Given the description of an element on the screen output the (x, y) to click on. 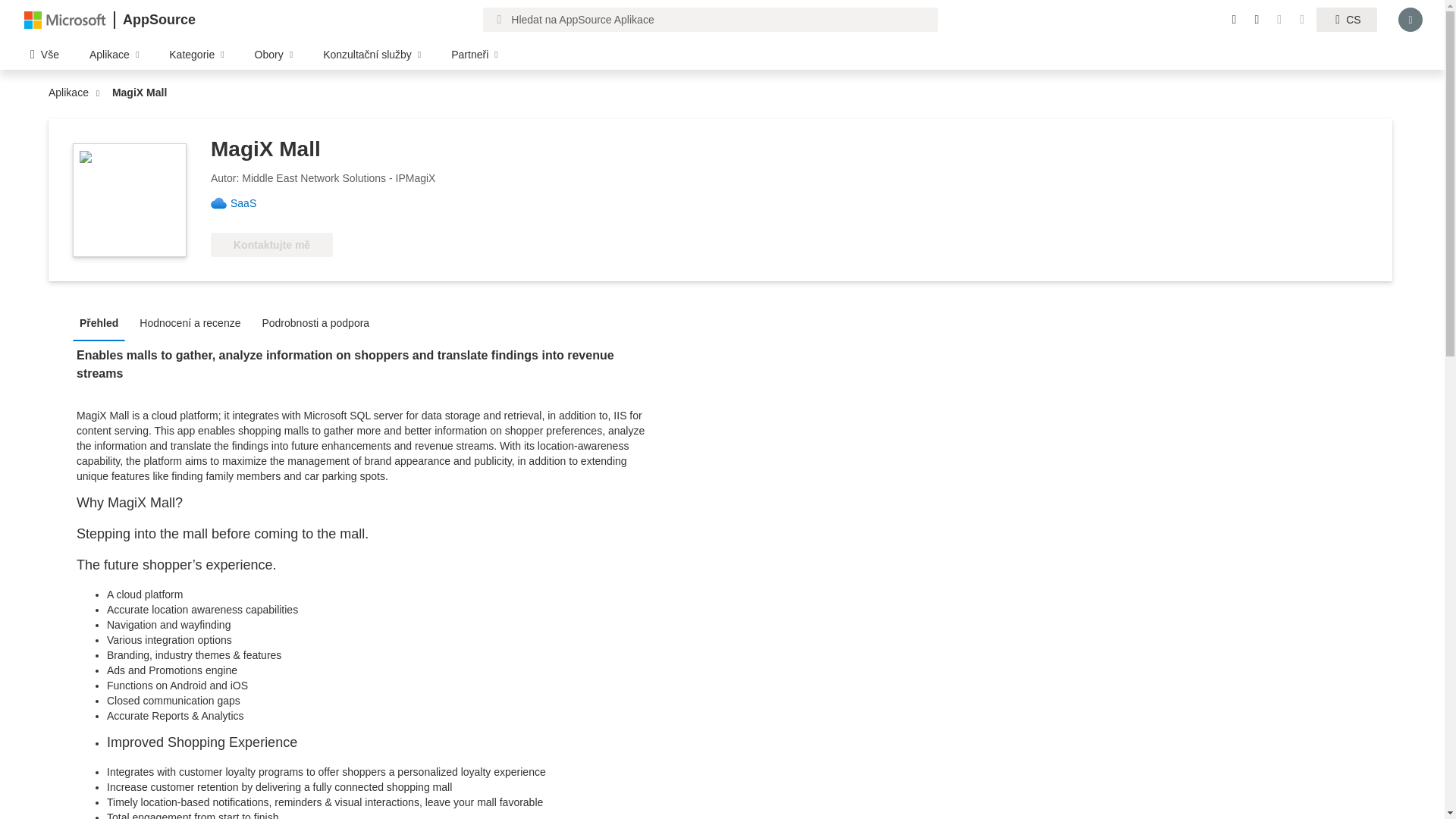
AppSource (158, 19)
Podrobnosti a podpora (319, 322)
SaaS (248, 203)
Aplikace (72, 92)
SaaS (248, 203)
Microsoft (65, 18)
